Given the description of an element on the screen output the (x, y) to click on. 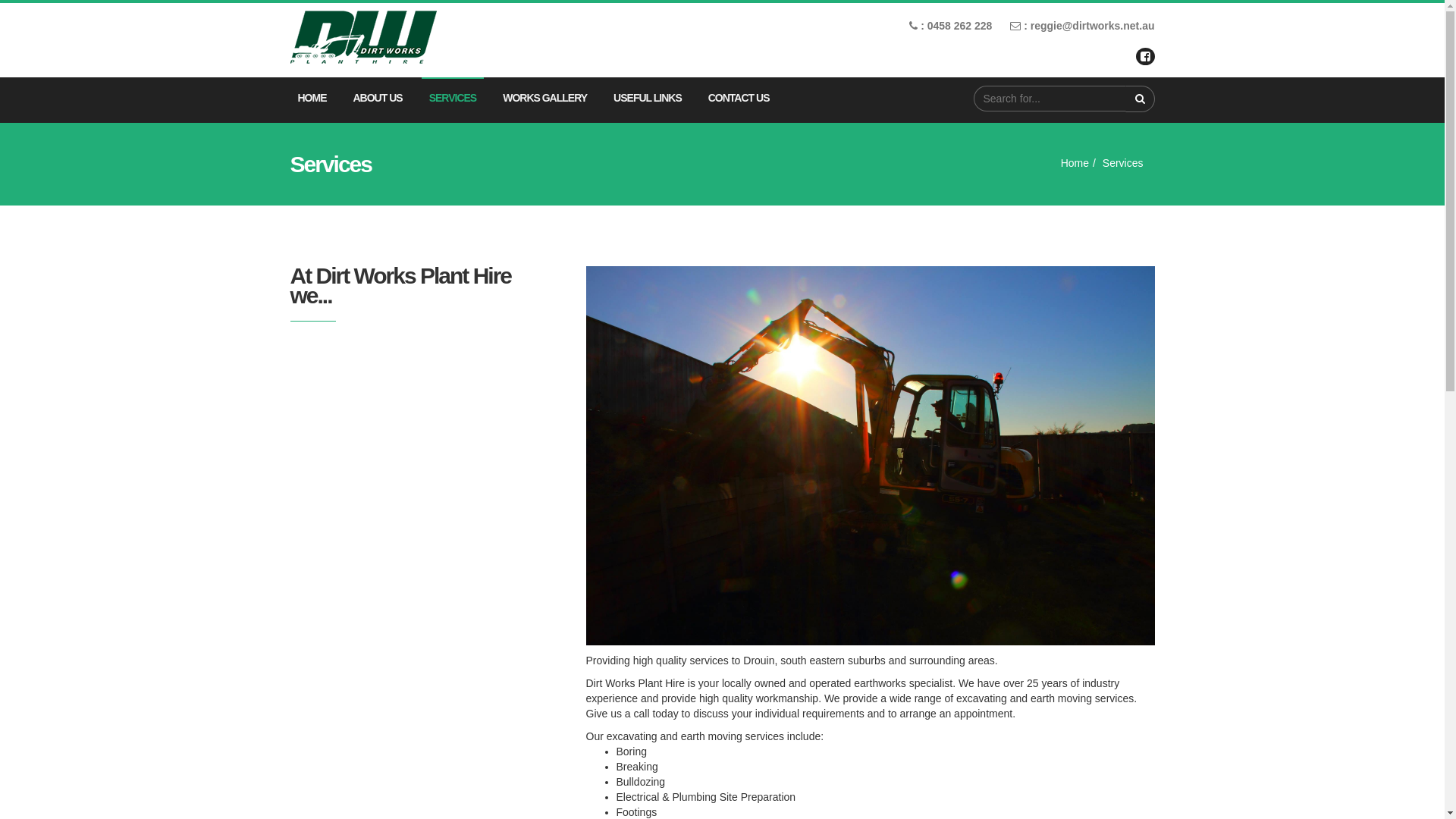
CONTACT US Element type: text (738, 98)
SERVICES Element type: text (452, 98)
Services Element type: text (1122, 162)
ABOUT US Element type: text (377, 98)
WORKS GALLERY Element type: text (544, 98)
USEFUL LINKS Element type: text (647, 98)
HOME Element type: text (311, 98)
Home Element type: text (1074, 162)
